Given the description of an element on the screen output the (x, y) to click on. 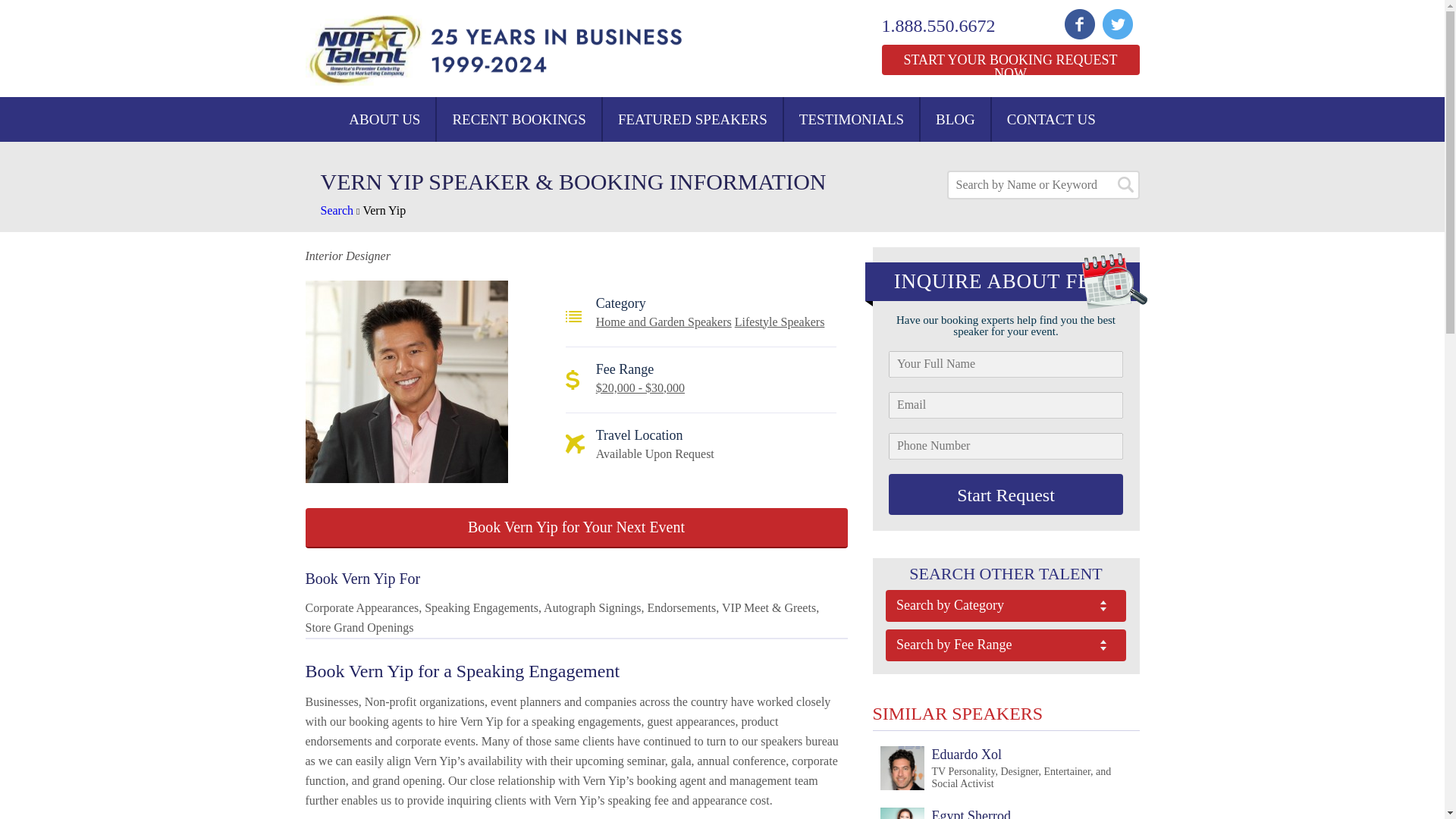
TESTIMONIALS (851, 119)
Lifestyle Speakers (780, 321)
Search by Category (1005, 604)
ABOUT US (384, 119)
Home and Garden Speakers (663, 321)
Start Request (1006, 494)
Vern Yip (384, 210)
Search by Fee Range (1005, 644)
1.888.550.6672 (947, 25)
Book Vern Yip for Your Next Event (575, 527)
